Given the description of an element on the screen output the (x, y) to click on. 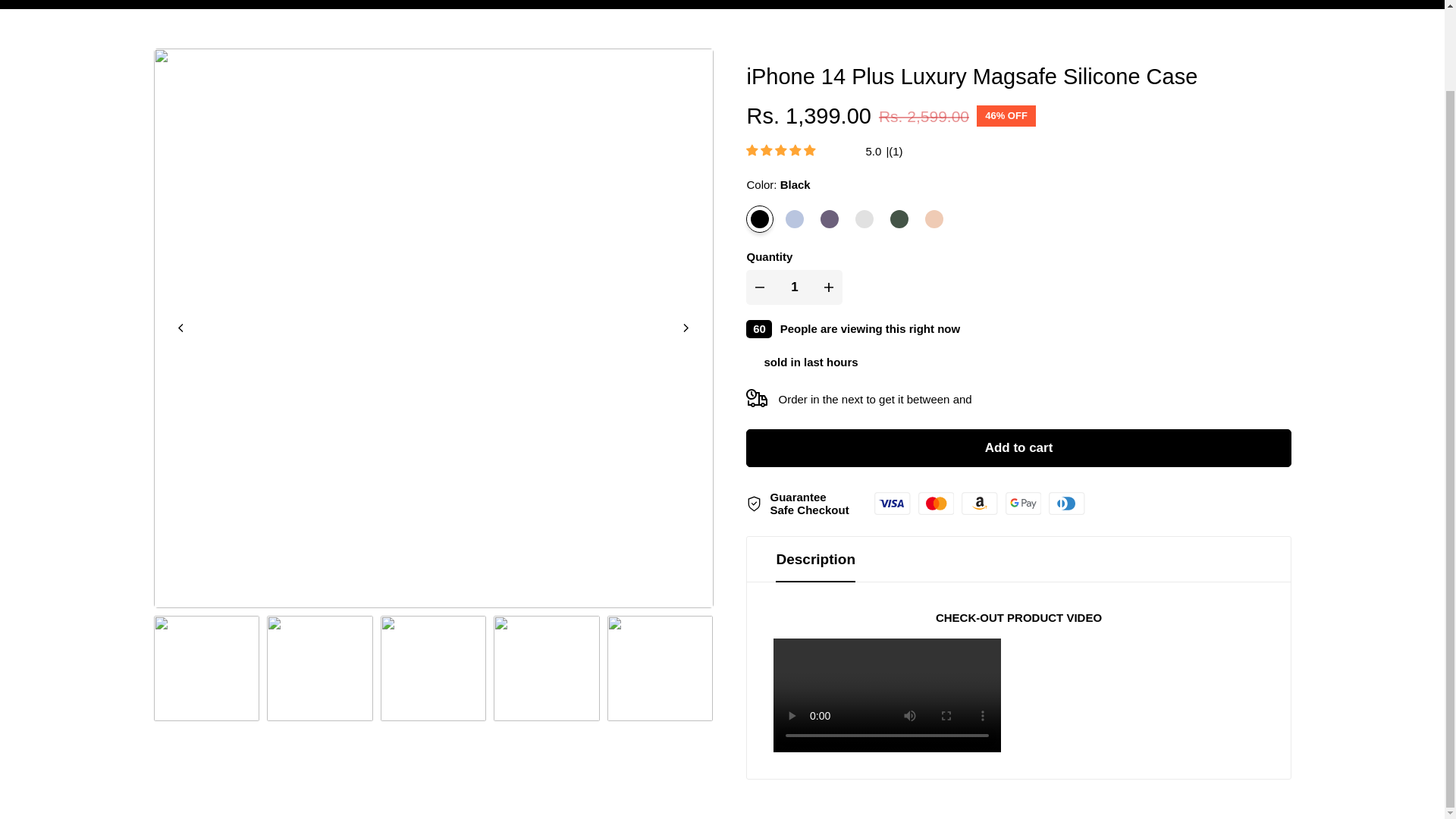
Description (1018, 559)
1 (794, 287)
Google Pay (1023, 503)
Diners Club (1066, 503)
Amazon (978, 503)
Mastercard (935, 503)
Visa (892, 503)
